Given the description of an element on the screen output the (x, y) to click on. 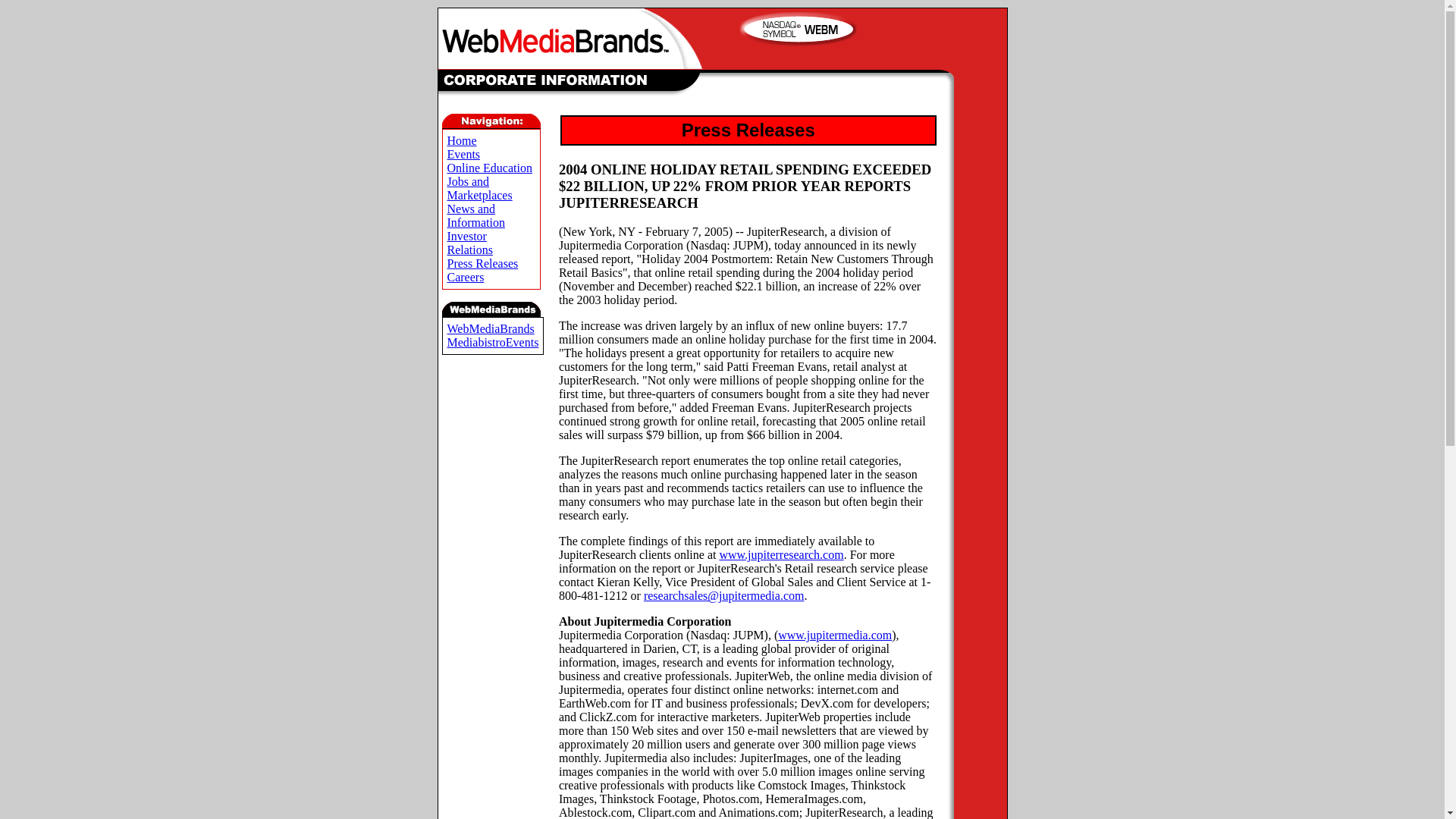
Home (461, 140)
Events (463, 154)
Get (798, 28)
MediabistroEvents (492, 341)
WebMediaBrands (490, 328)
Investor Relations (469, 243)
www.jupitermedia.com (834, 634)
Jobs and Marketplaces (479, 188)
www.jupiterresearch.com (781, 554)
News and Information (475, 215)
Online Education (489, 167)
Press Releases (482, 263)
Careers (465, 277)
